Given the description of an element on the screen output the (x, y) to click on. 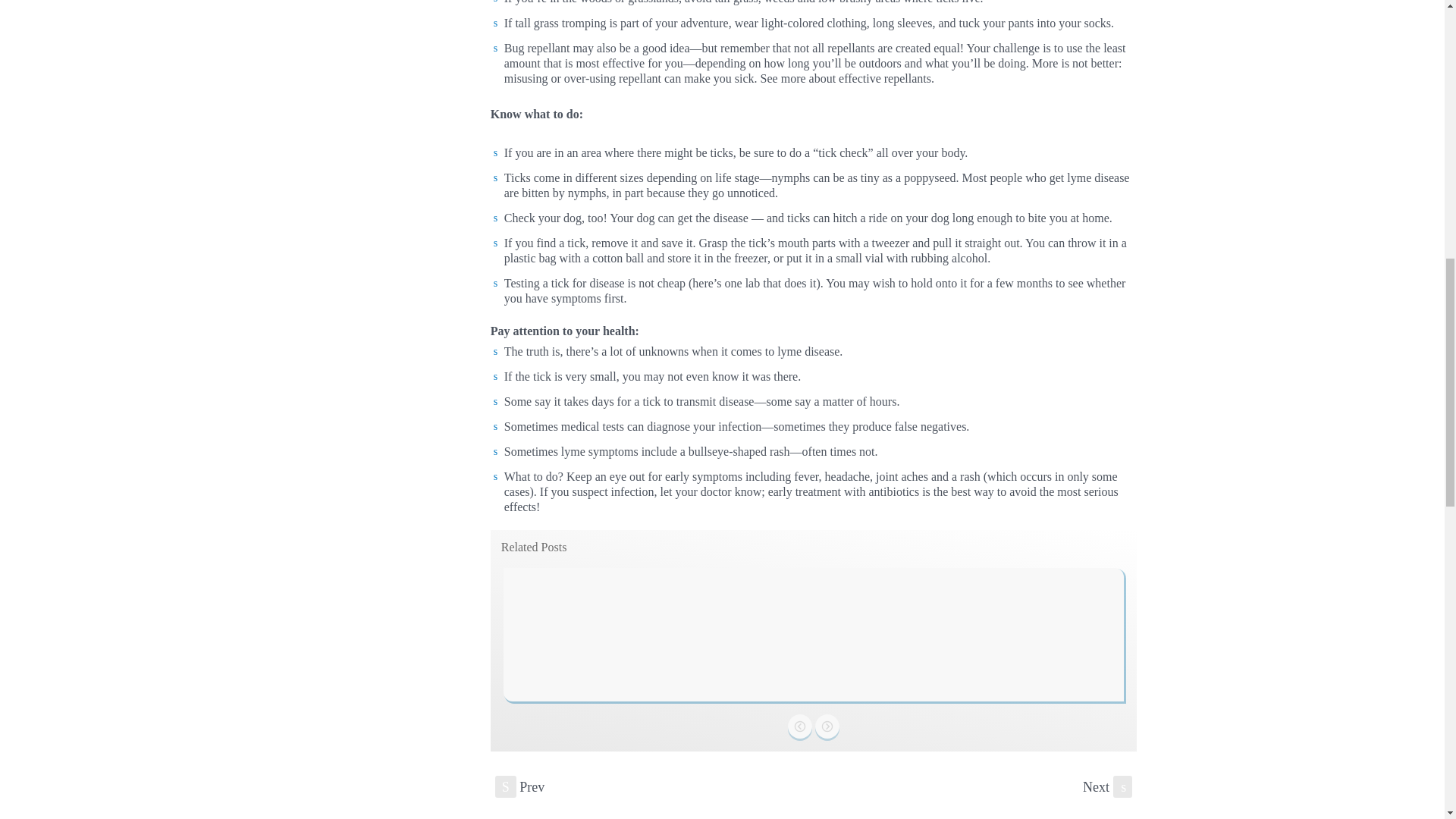
See more about effective repellants. (847, 78)
